Given the description of an element on the screen output the (x, y) to click on. 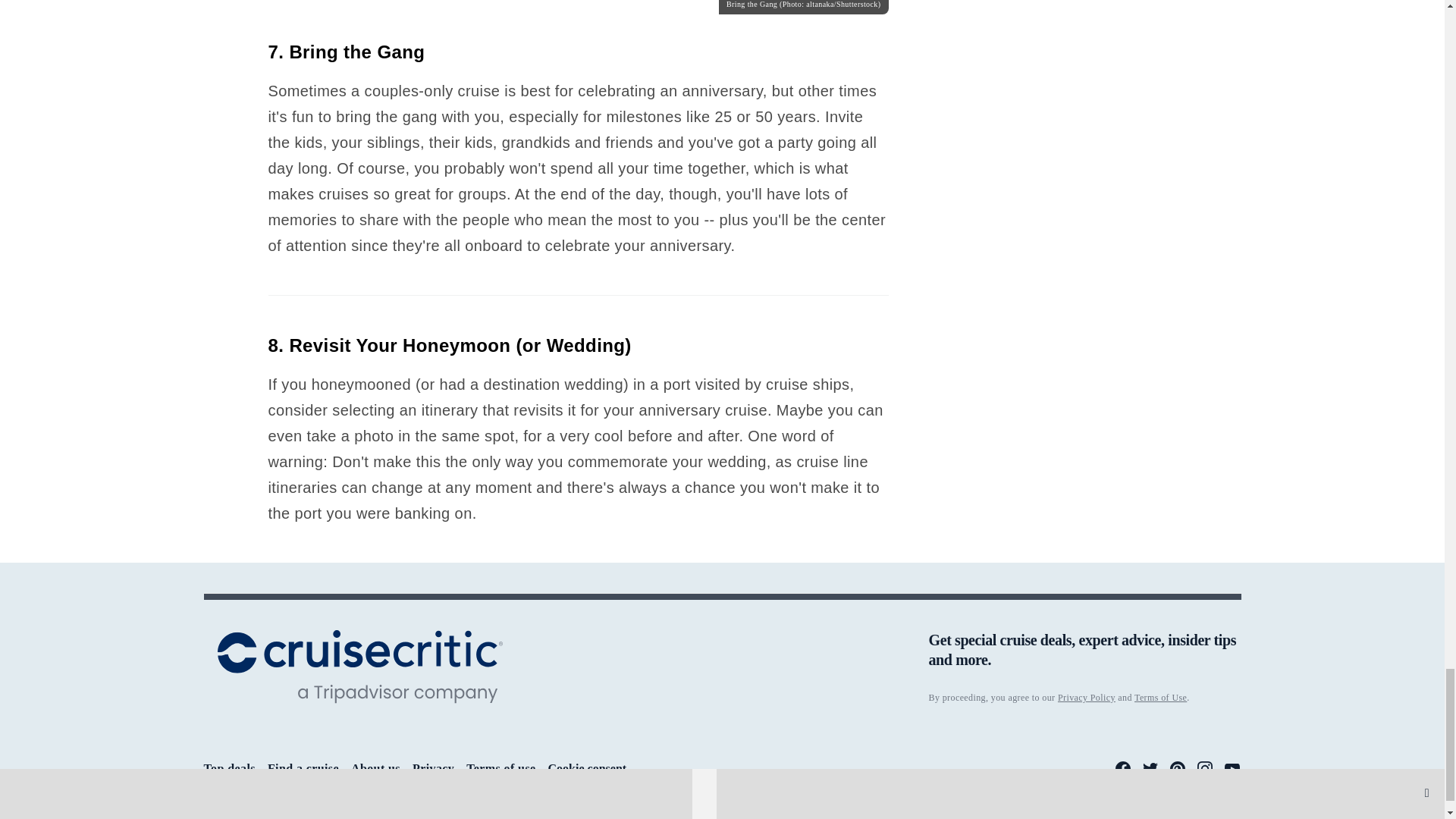
About us (375, 768)
Terms of use (500, 768)
Privacy Policy (1086, 697)
Top deals (228, 768)
Privacy (433, 768)
Find a cruise (303, 768)
Cookie consent (587, 769)
Terms of Use (1160, 697)
